Given the description of an element on the screen output the (x, y) to click on. 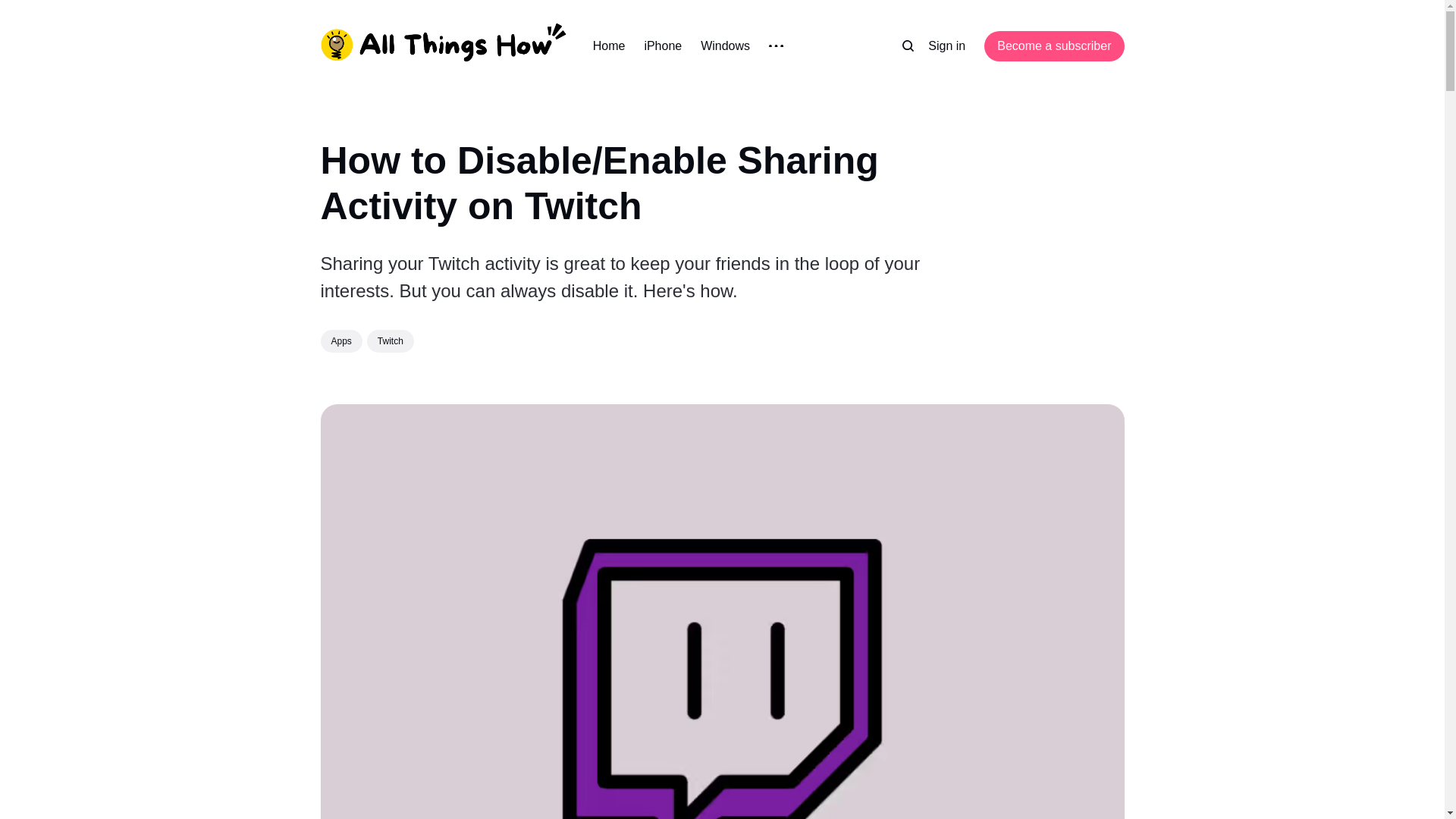
iPhone (662, 45)
Twitch (389, 341)
Home (609, 45)
Apps (340, 341)
Become a subscriber (1054, 46)
Windows (724, 45)
Sign in (946, 45)
